Given the description of an element on the screen output the (x, y) to click on. 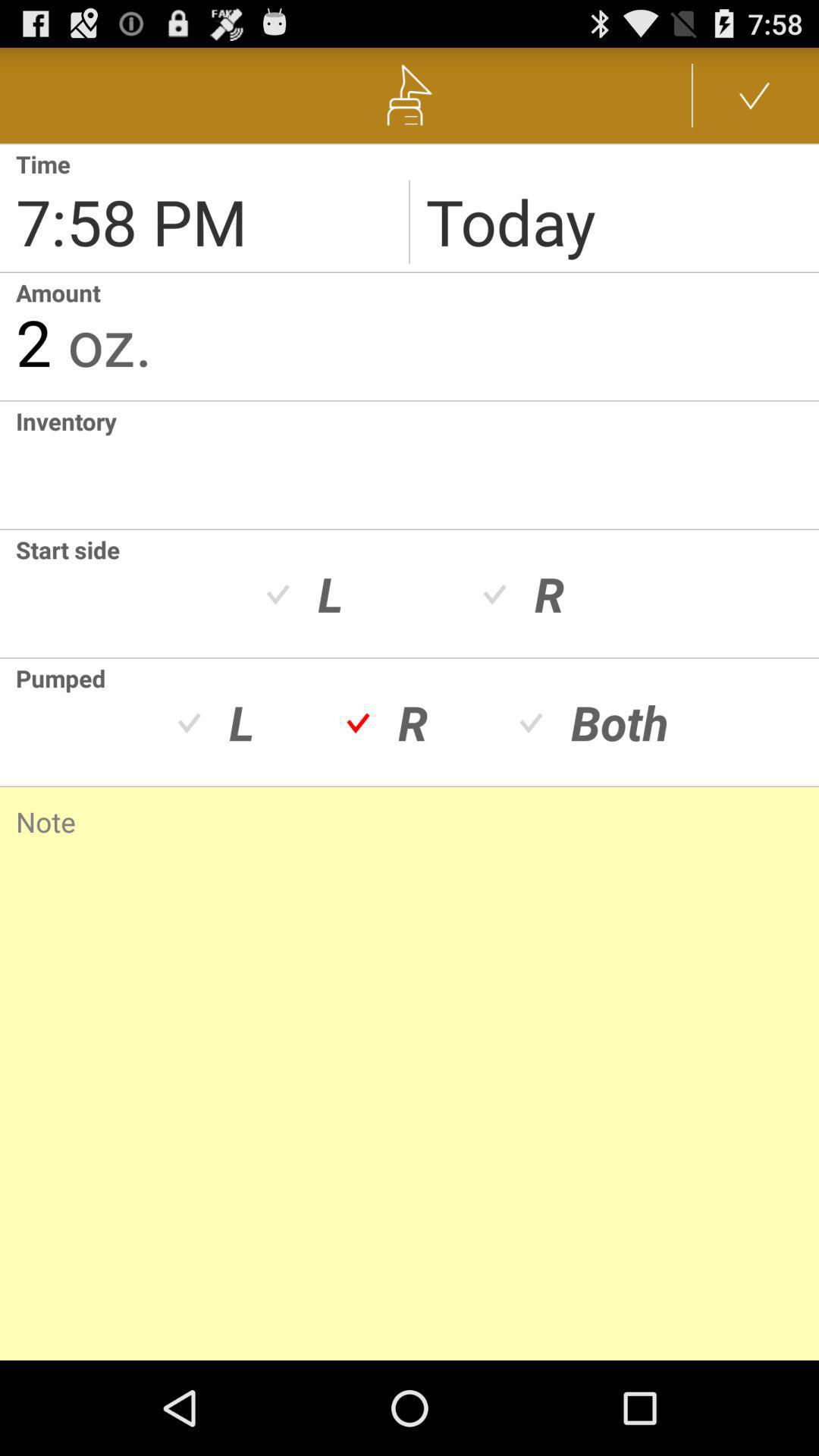
complete the action (755, 95)
